Given the description of an element on the screen output the (x, y) to click on. 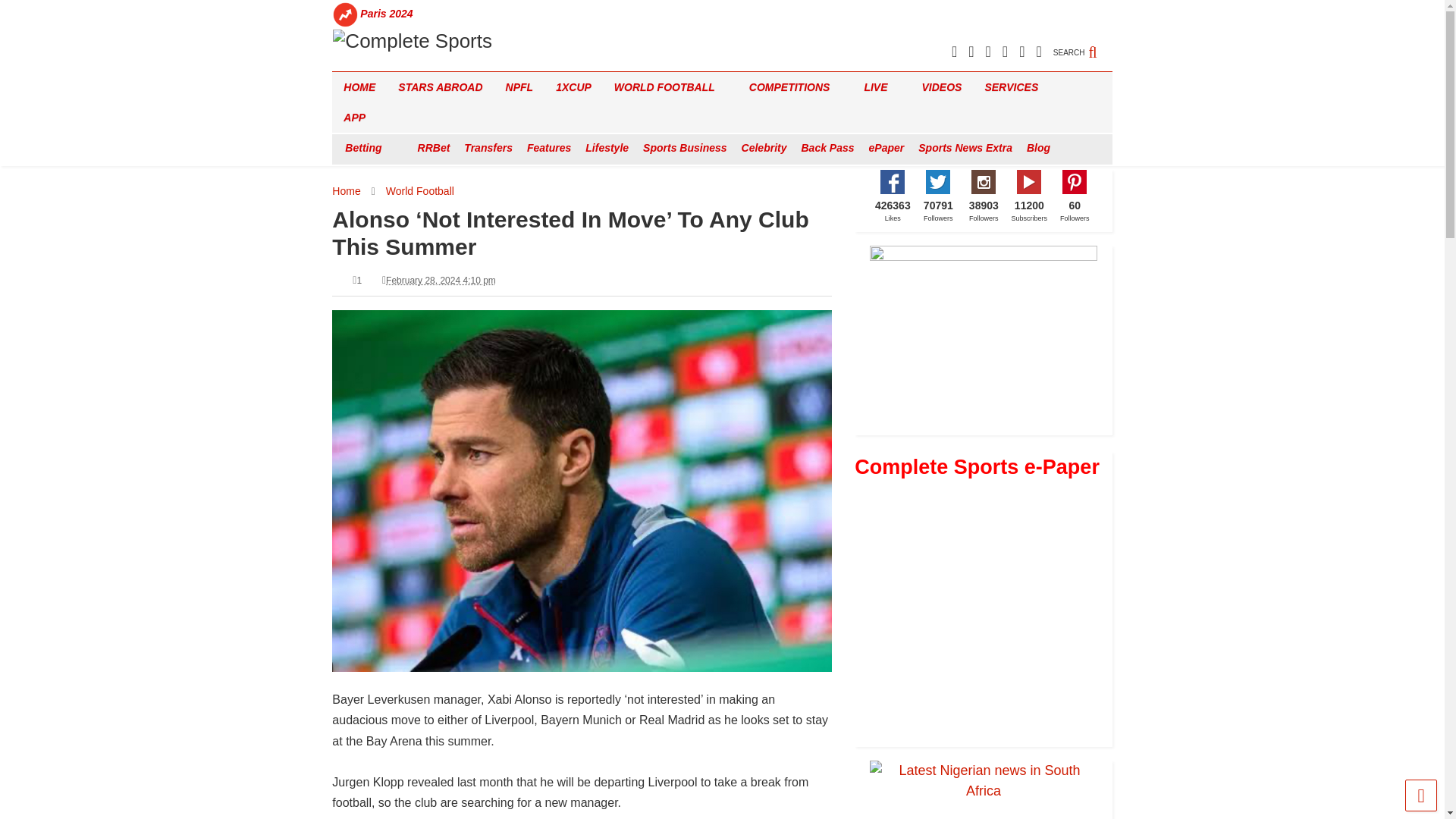
February 28, 2024 4:10 pm (440, 280)
HOME (359, 87)
VIDEOS (942, 87)
COMPETITIONS (795, 87)
NPFL (519, 87)
Paris 2024 (386, 13)
SEARCH (1082, 44)
LIVE (880, 87)
STARS ABROAD (440, 87)
1XCUP (573, 87)
